Given the description of an element on the screen output the (x, y) to click on. 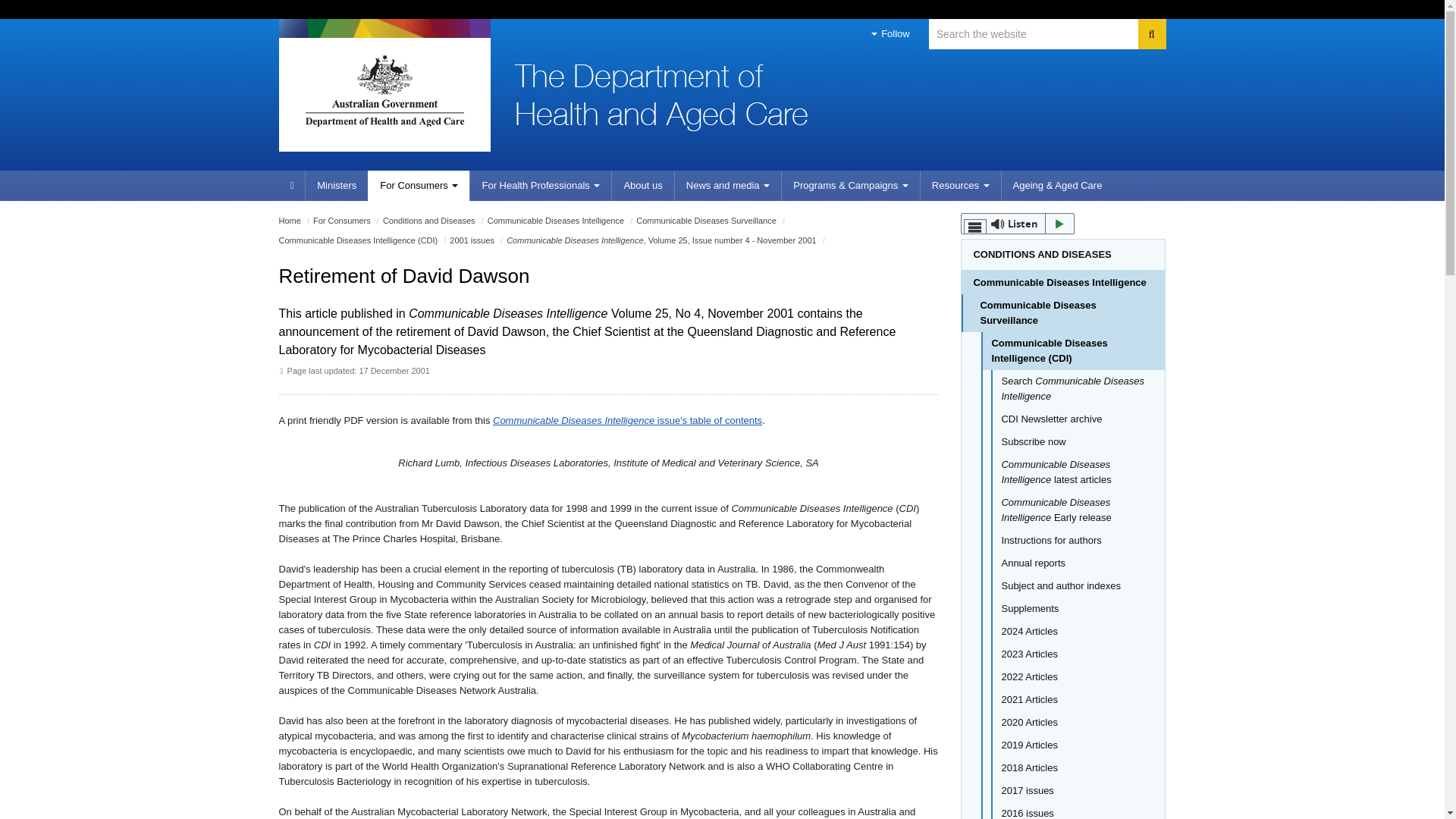
For Consumers (418, 185)
Resources (960, 185)
Communicable Diseases Intelligence (555, 220)
About us (641, 185)
Ministers (336, 185)
Australian Government Department of Health and Aged Care (383, 90)
Follow (890, 33)
Search (1151, 33)
Australian Government Department of Health and Aged Care (383, 90)
Conditions and Diseases (429, 220)
Home (290, 220)
For Consumers (342, 220)
For Health Professionals (539, 185)
News and media (727, 185)
